Given the description of an element on the screen output the (x, y) to click on. 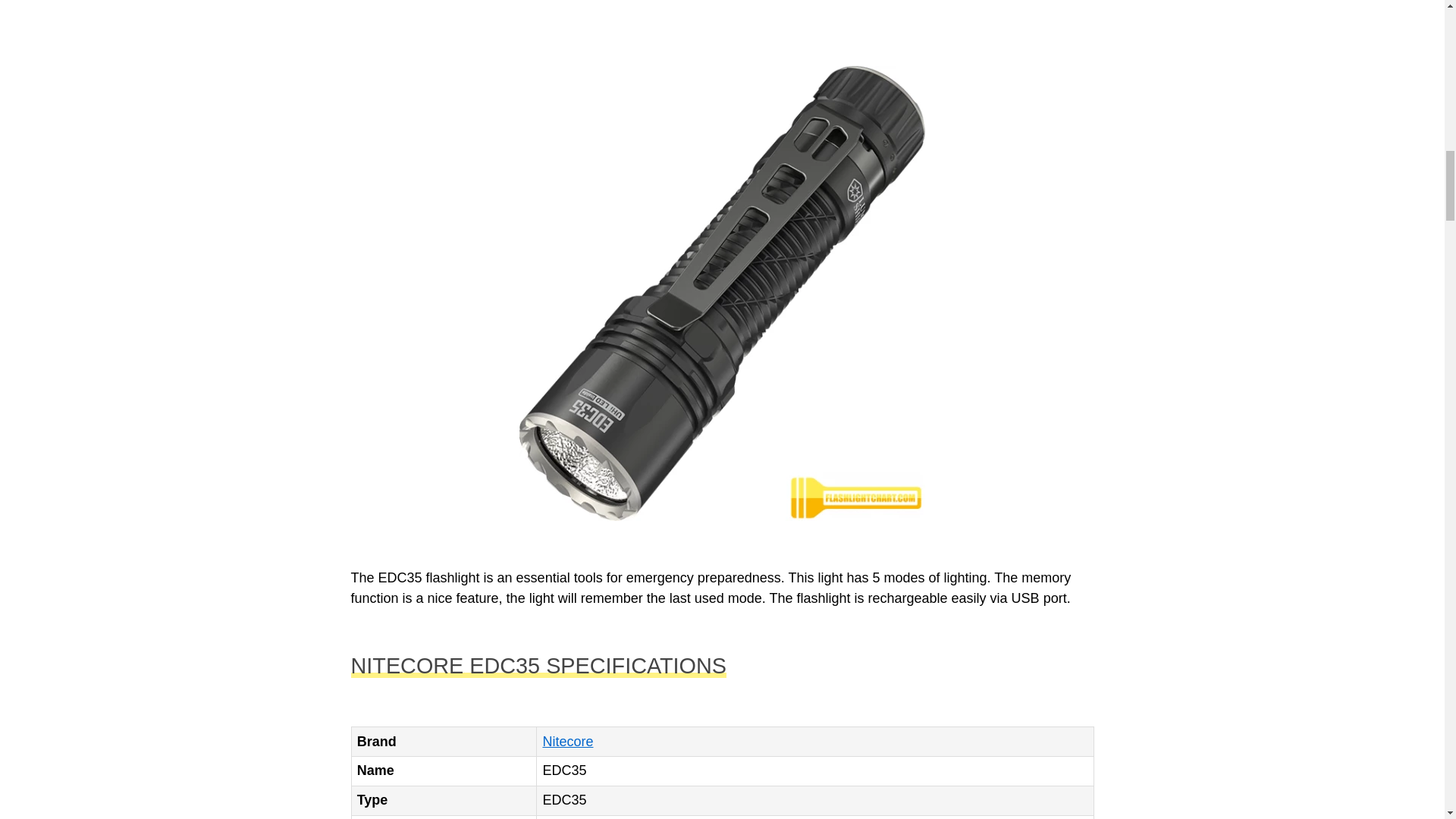
Nitecore flashlights (566, 741)
Nitecore (566, 741)
